Given the description of an element on the screen output the (x, y) to click on. 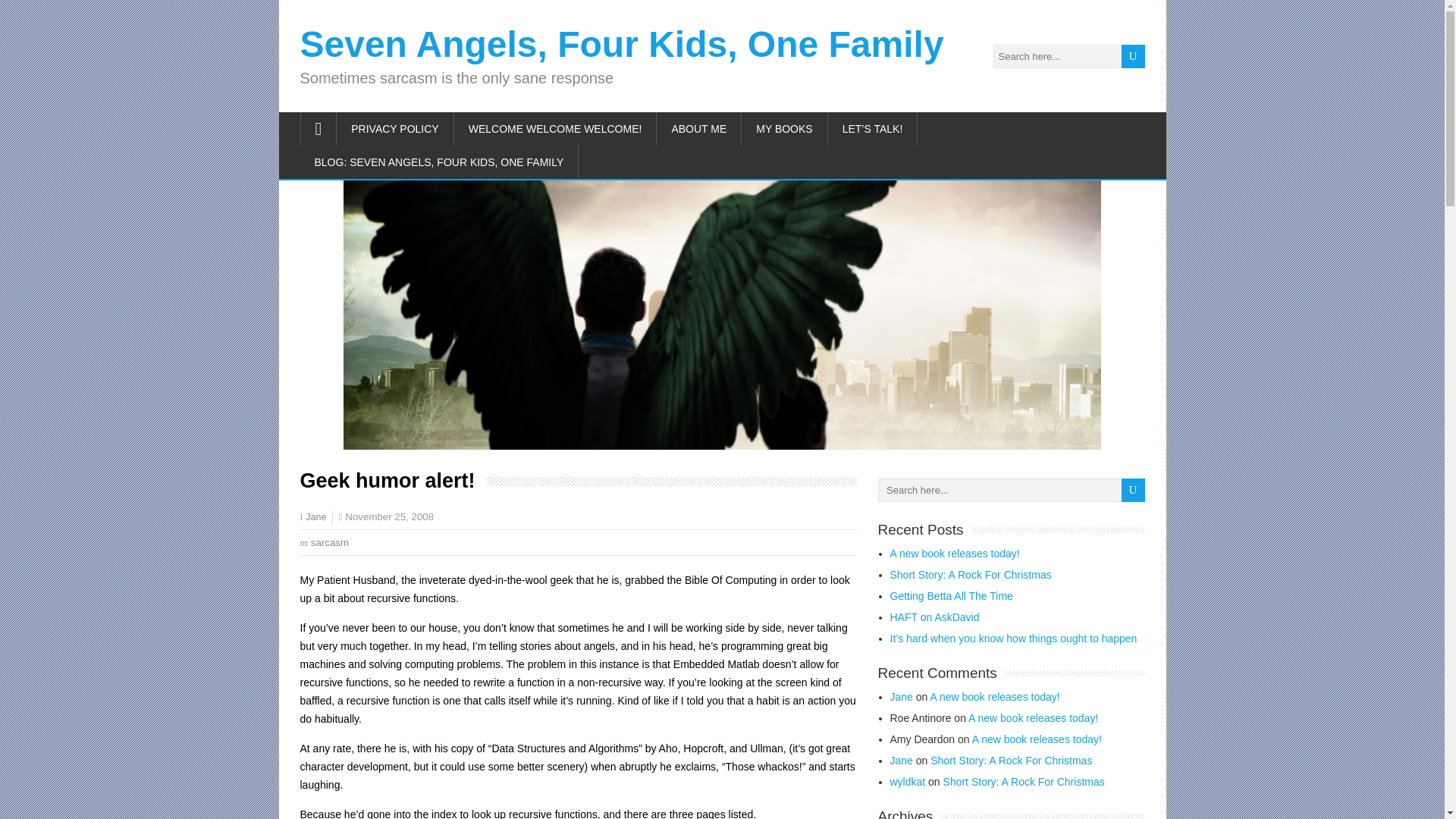
Posts by Jane (315, 516)
U (1132, 56)
A new book releases today! (954, 553)
U (1132, 490)
ABOUT ME (698, 128)
BLOG: SEVEN ANGELS, FOUR KIDS, ONE FAMILY (439, 162)
Jane (315, 516)
U (1132, 490)
U (1132, 490)
Seven Angels, Four Kids, One Family (621, 44)
U (1132, 56)
Short Story: A Rock For Christmas (970, 574)
sarcasm (330, 542)
PRIVACY POLICY (394, 128)
MY BOOKS (784, 128)
